Given the description of an element on the screen output the (x, y) to click on. 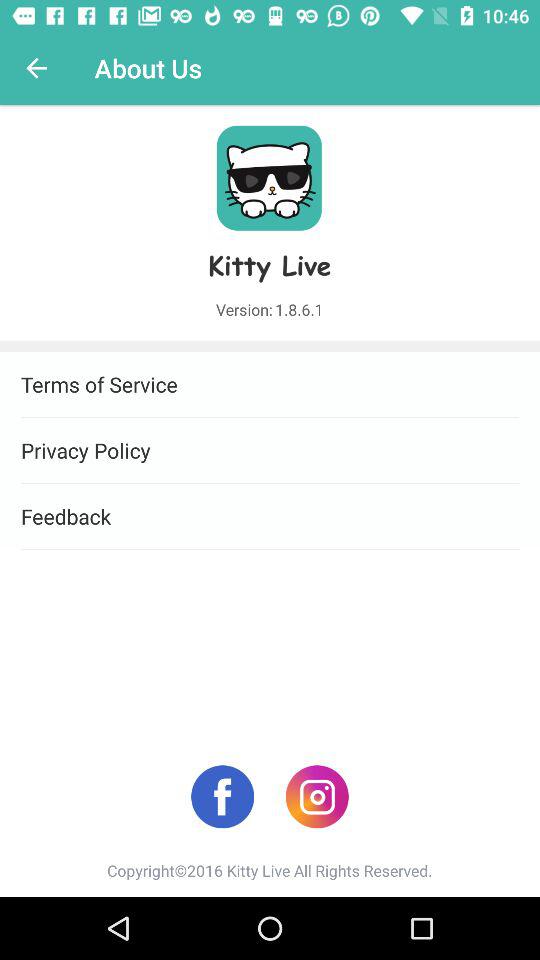
open copyright 2016 kitty item (269, 870)
